Given the description of an element on the screen output the (x, y) to click on. 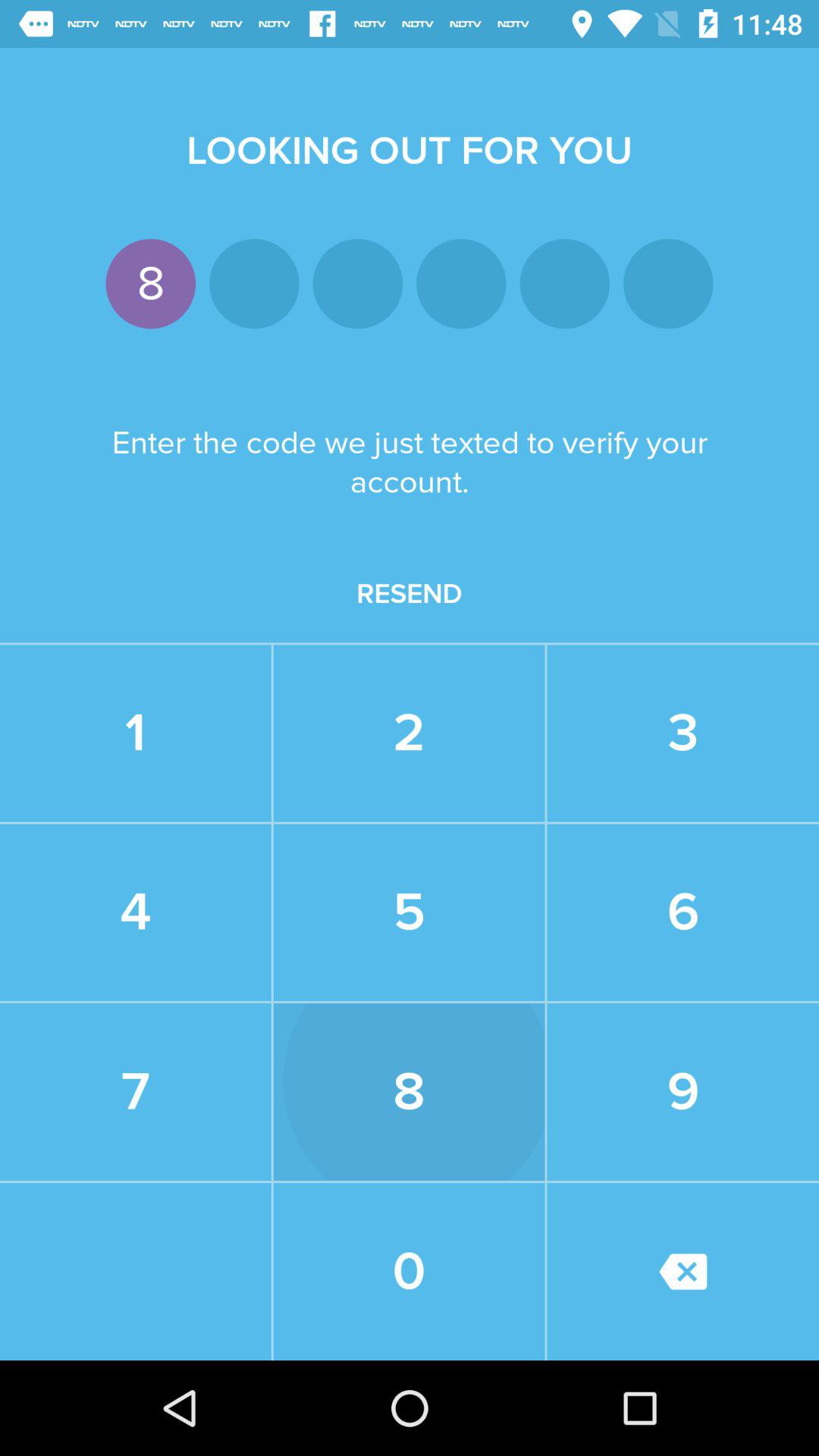
flip to the 9 icon (683, 1091)
